Given the description of an element on the screen output the (x, y) to click on. 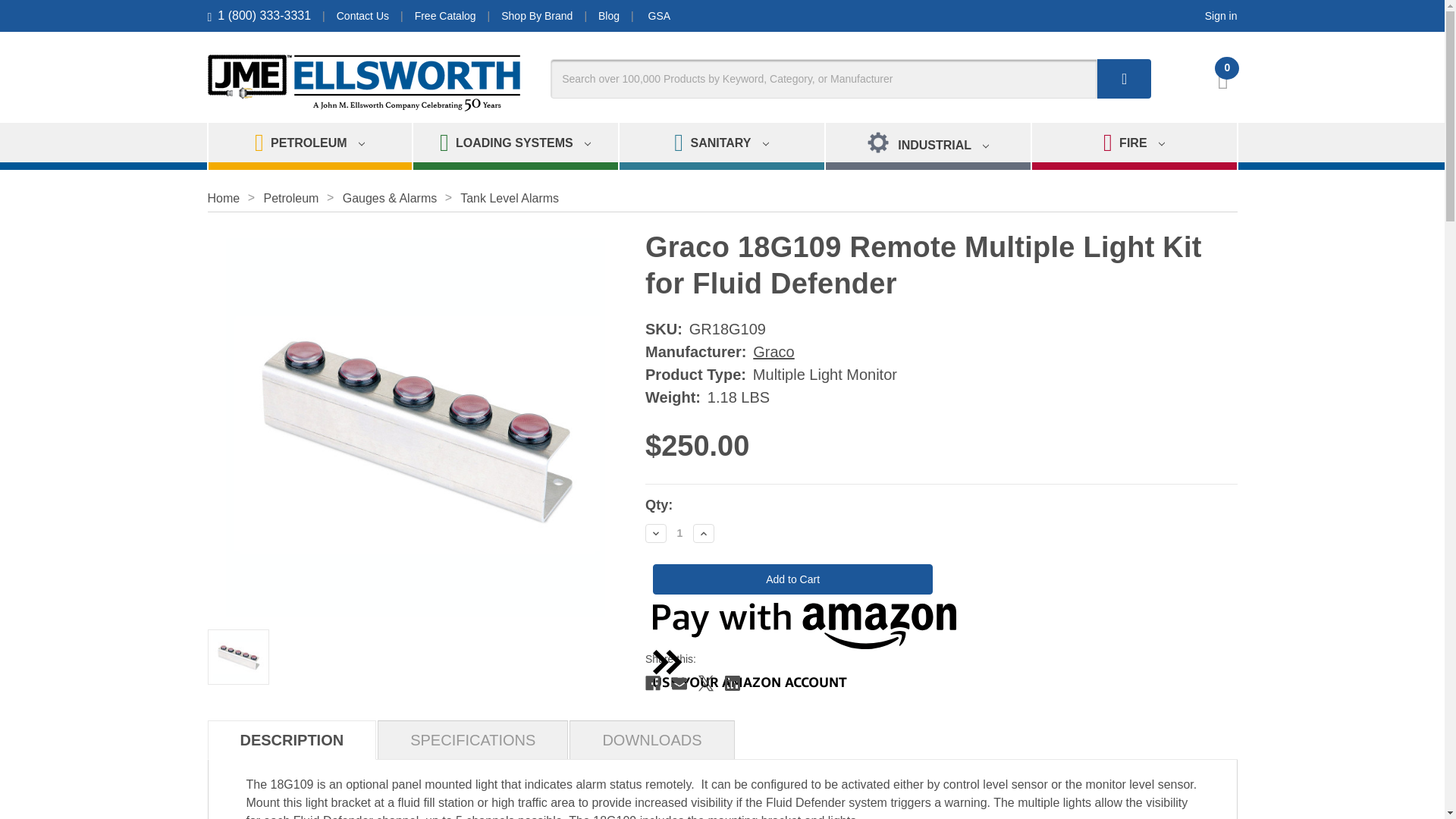
Add to Cart (792, 579)
Free Catalog (445, 15)
PETROLEUM (309, 145)
Sign in (1221, 15)
John M. Ellsworth Co. Inc. (363, 82)
1 (679, 532)
Graco 18G109 Remote Multiple Light Kit for Fluid Defender (237, 656)
Contact Us (362, 15)
GSA (659, 15)
Shop By Brand (536, 15)
Blog (609, 15)
